Given the description of an element on the screen output the (x, y) to click on. 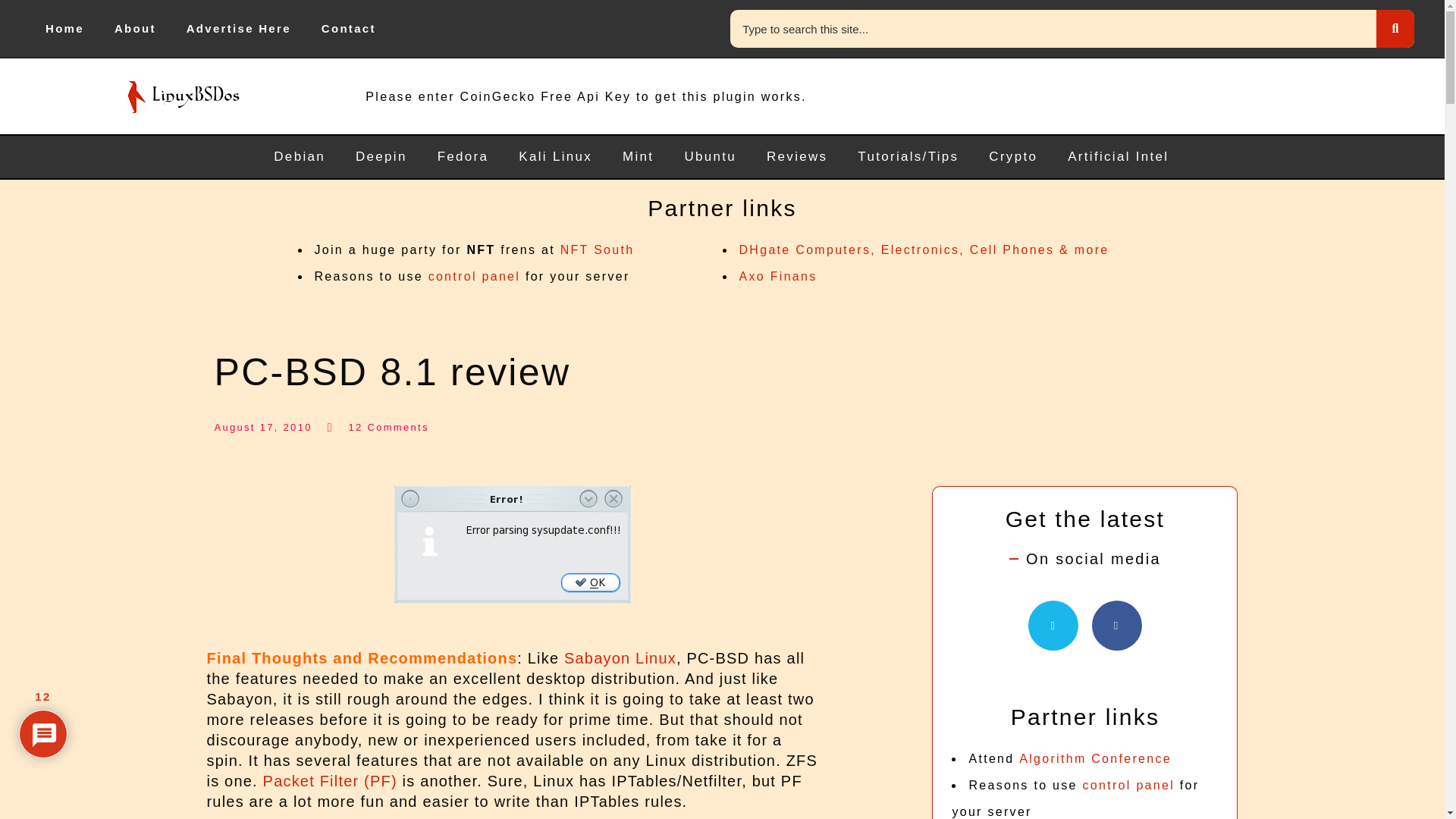
Contact (348, 28)
Debian (299, 156)
Reviews (797, 156)
Deepin (381, 156)
Artificial Intel (1117, 156)
Crypto (1013, 156)
Ubuntu (709, 156)
Sabayon Linux (620, 658)
Home (64, 28)
Axo Finans (777, 276)
Kali Linux (555, 156)
LinuxBSDos logo (183, 95)
August 17, 2010 (262, 427)
Mint (637, 156)
About (135, 28)
